Given the description of an element on the screen output the (x, y) to click on. 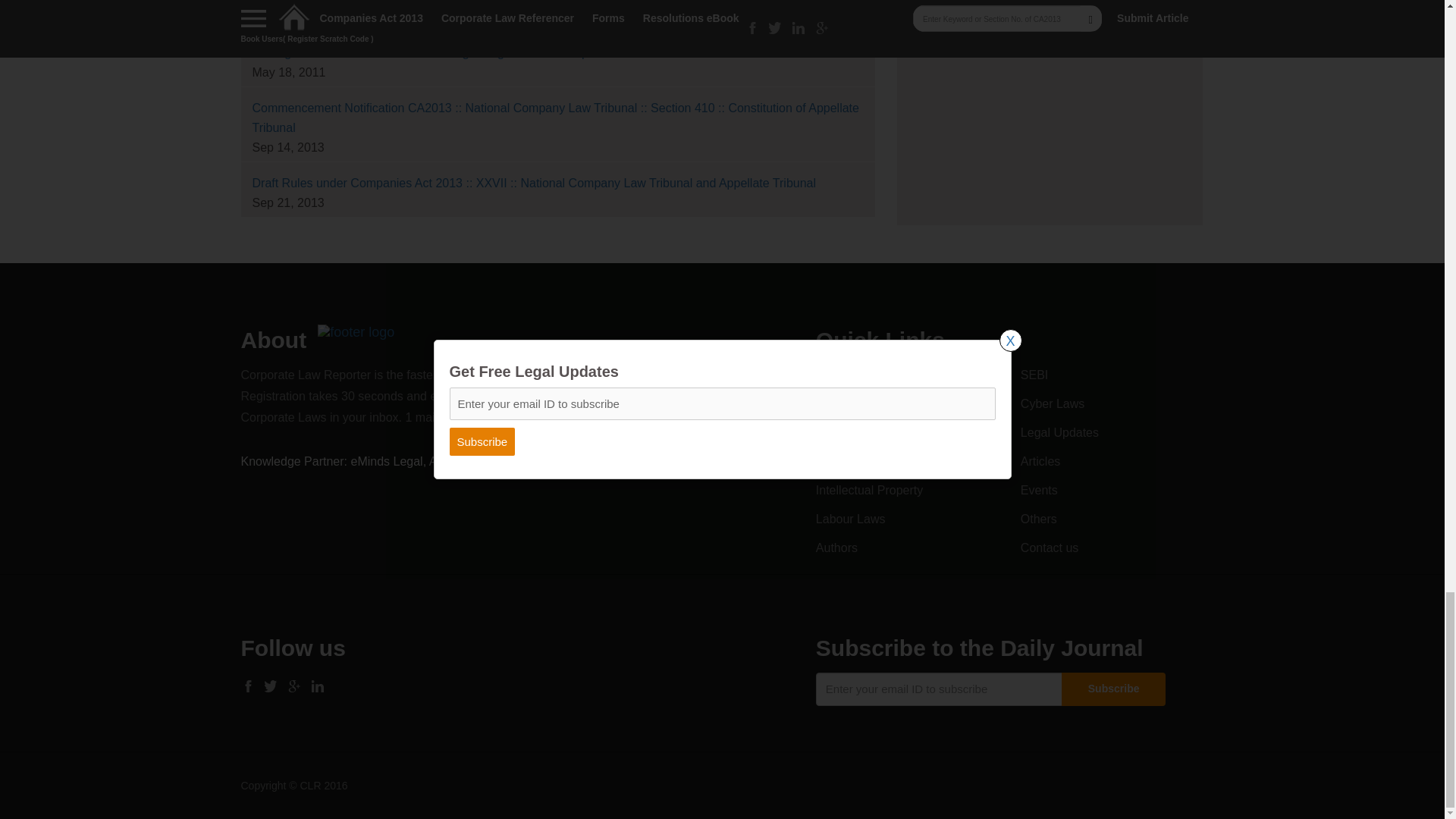
CLR (355, 331)
